Given the description of an element on the screen output the (x, y) to click on. 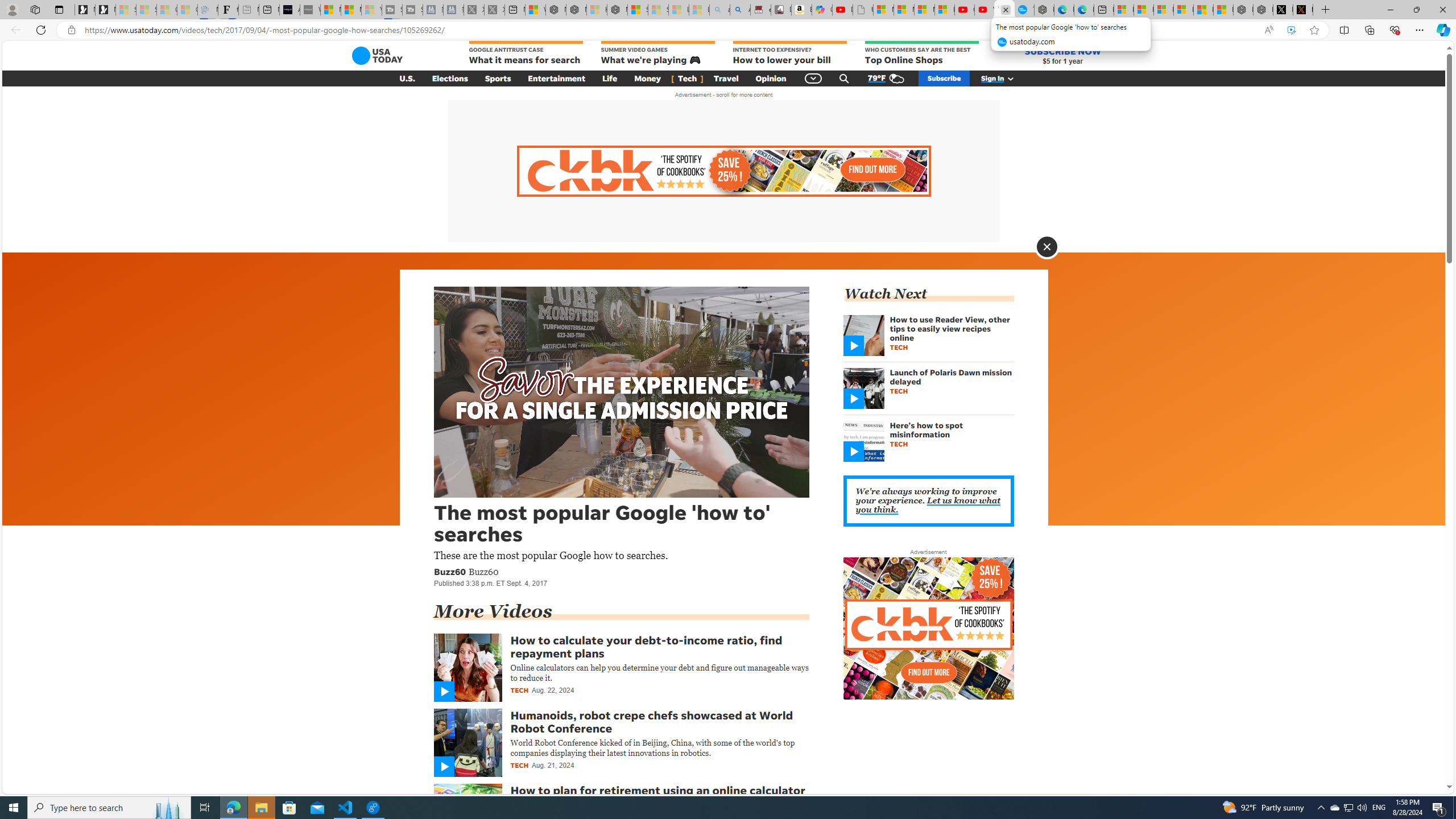
AI Voice Changer for PC and Mac - Voice.ai (289, 9)
Global Navigation (813, 78)
amazon - Search - Sleeping (719, 9)
Elections (449, 78)
Entertainment (556, 78)
